Given the description of an element on the screen output the (x, y) to click on. 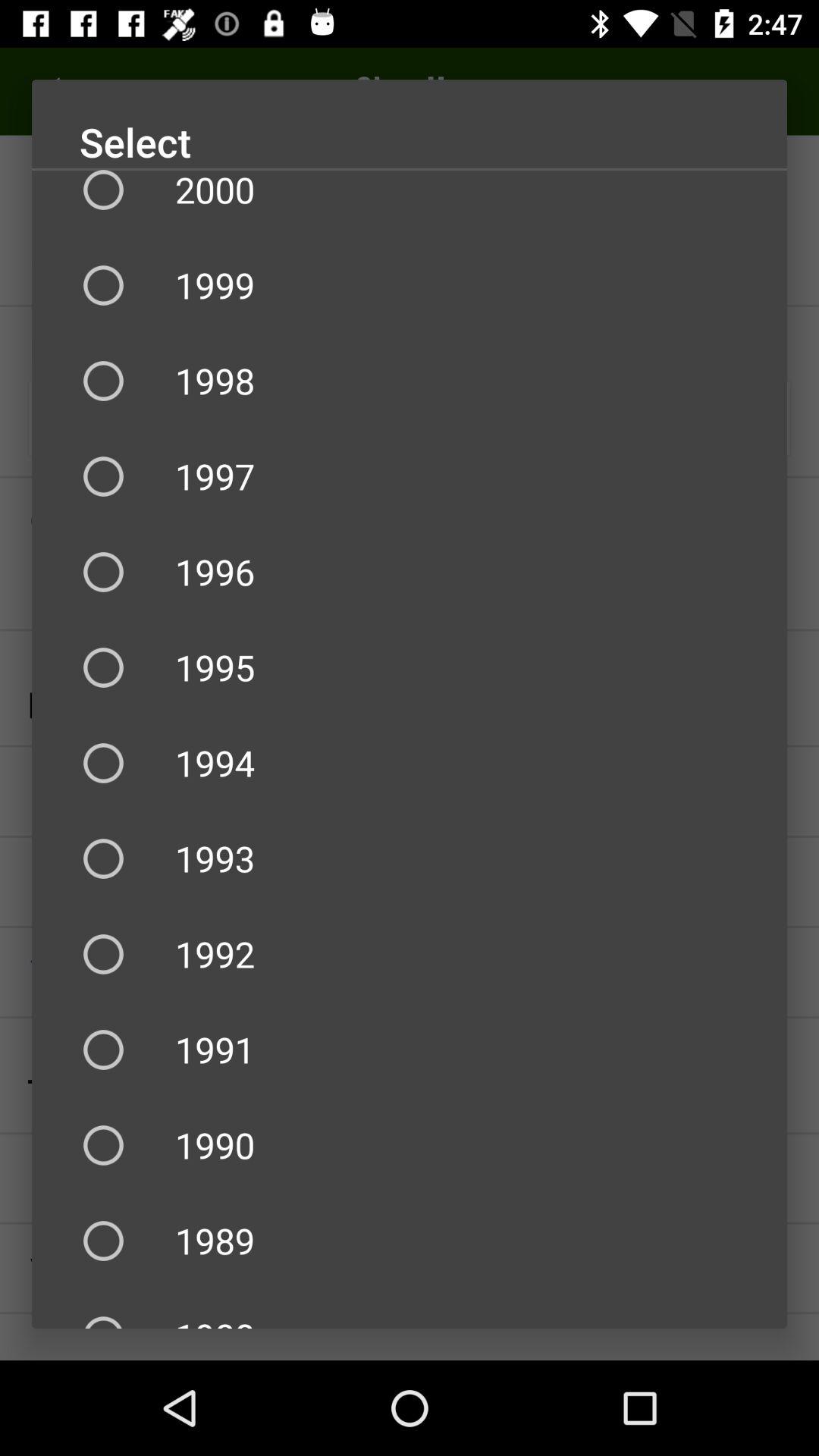
launch the item below 1994 (409, 858)
